Given the description of an element on the screen output the (x, y) to click on. 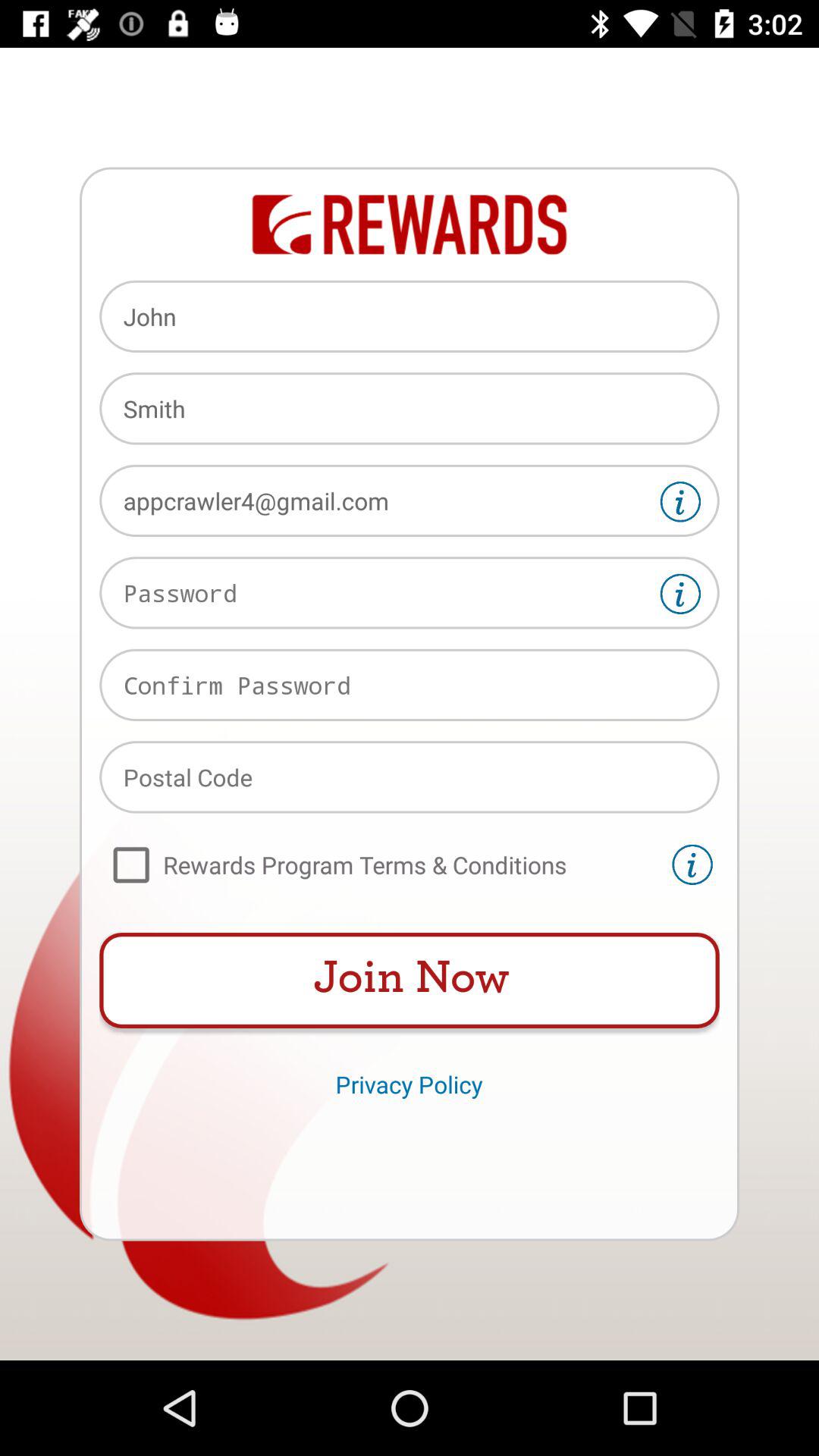
enter password (409, 592)
